Given the description of an element on the screen output the (x, y) to click on. 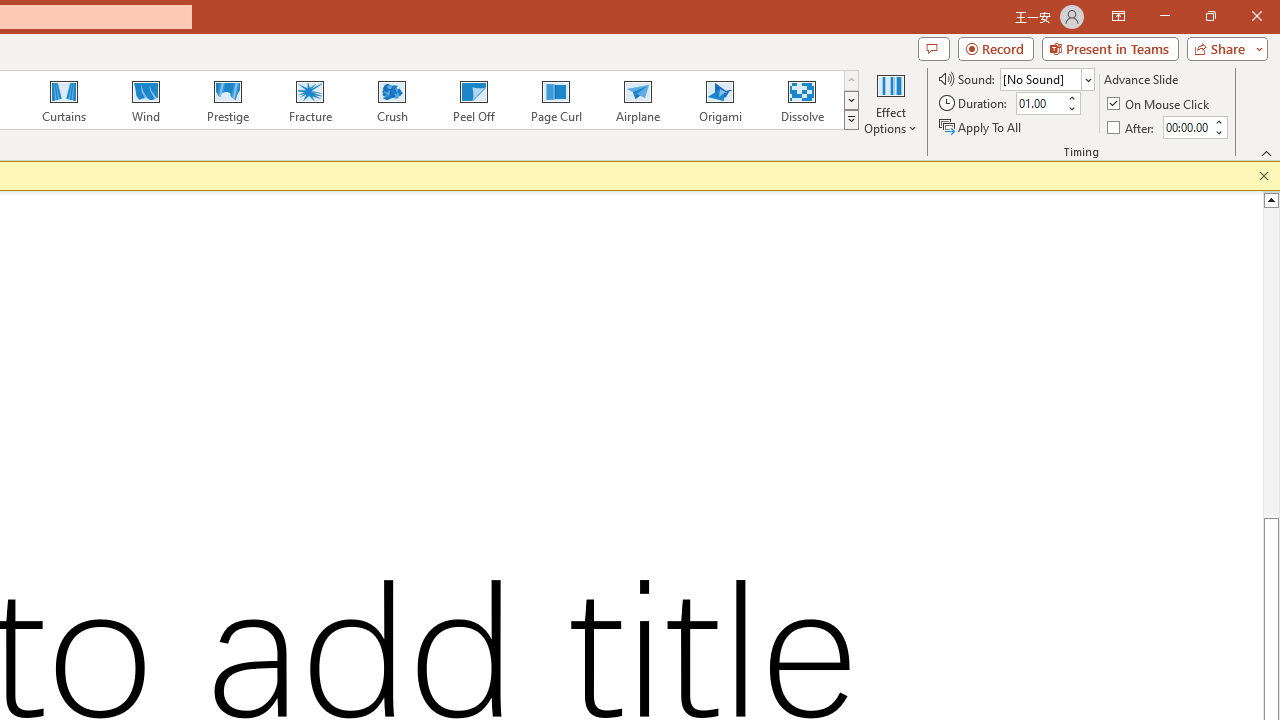
Apply To All (981, 126)
Peel Off (473, 100)
Close this message (1263, 176)
Prestige (227, 100)
